Given the description of an element on the screen output the (x, y) to click on. 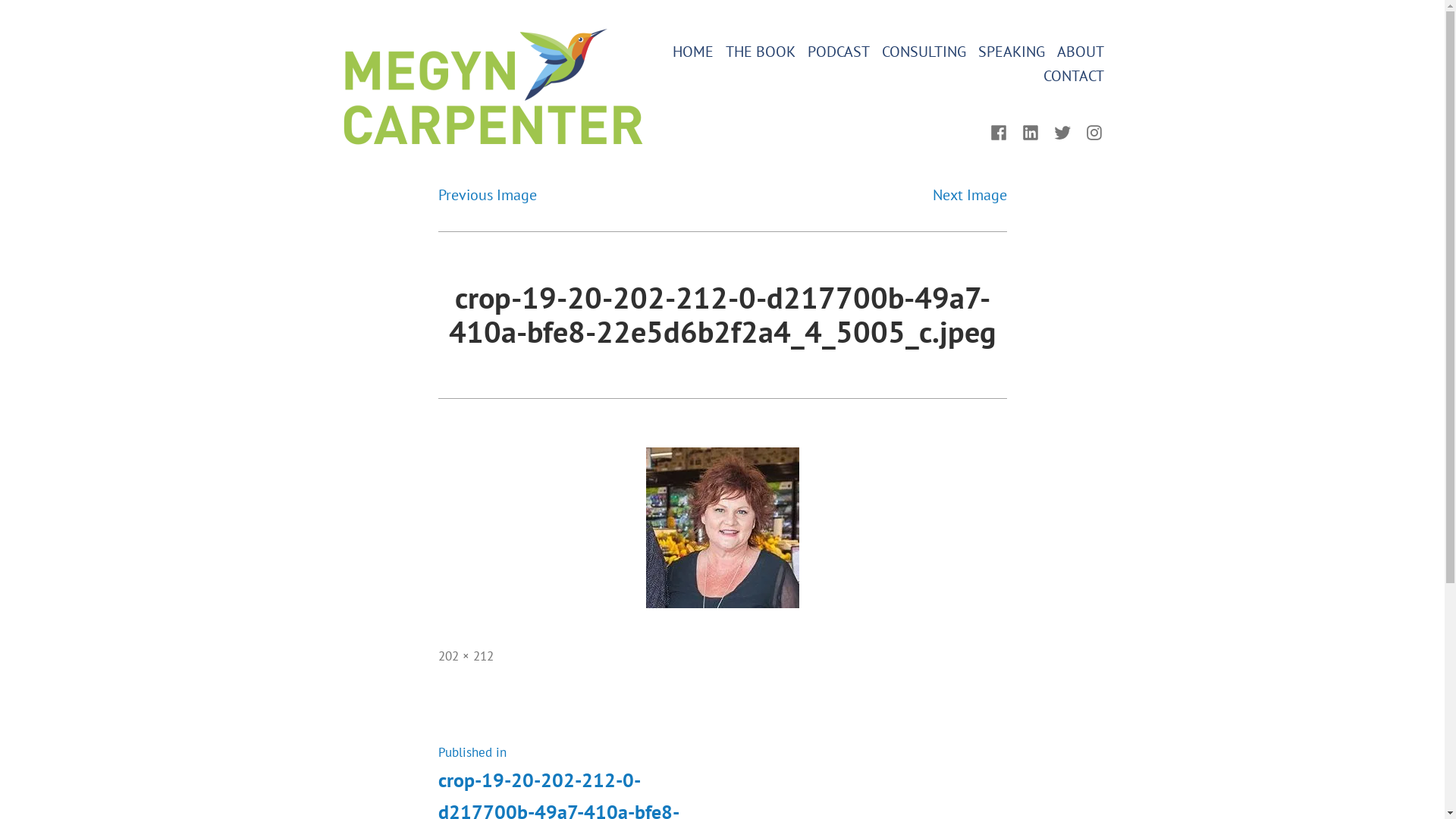
Next Image Element type: text (969, 194)
Instagram Element type: text (1091, 131)
PODCAST Element type: text (837, 51)
Megyn Carpenter Element type: text (438, 144)
LinkedIn Element type: text (1030, 131)
CONSULTING Element type: text (923, 51)
Previous Image Element type: text (487, 194)
Twitter Element type: text (1062, 131)
THE BOOK Element type: text (759, 51)
CONTACT Element type: text (1073, 75)
HOME Element type: text (691, 51)
ABOUT Element type: text (1080, 51)
SPEAKING Element type: text (1011, 51)
Facebook Element type: text (1001, 131)
